Given the description of an element on the screen output the (x, y) to click on. 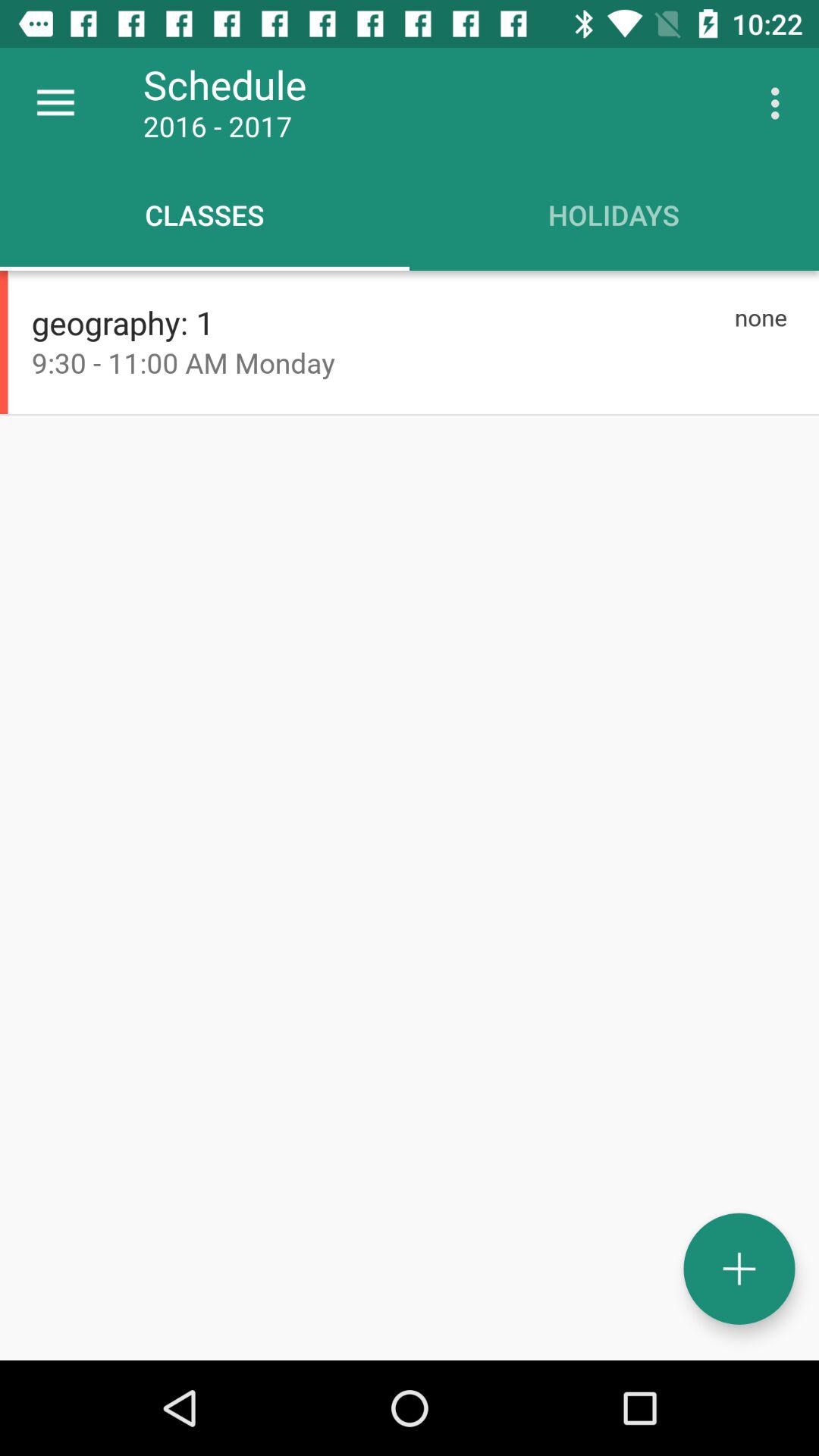
press icon next to the schedule icon (779, 103)
